Given the description of an element on the screen output the (x, y) to click on. 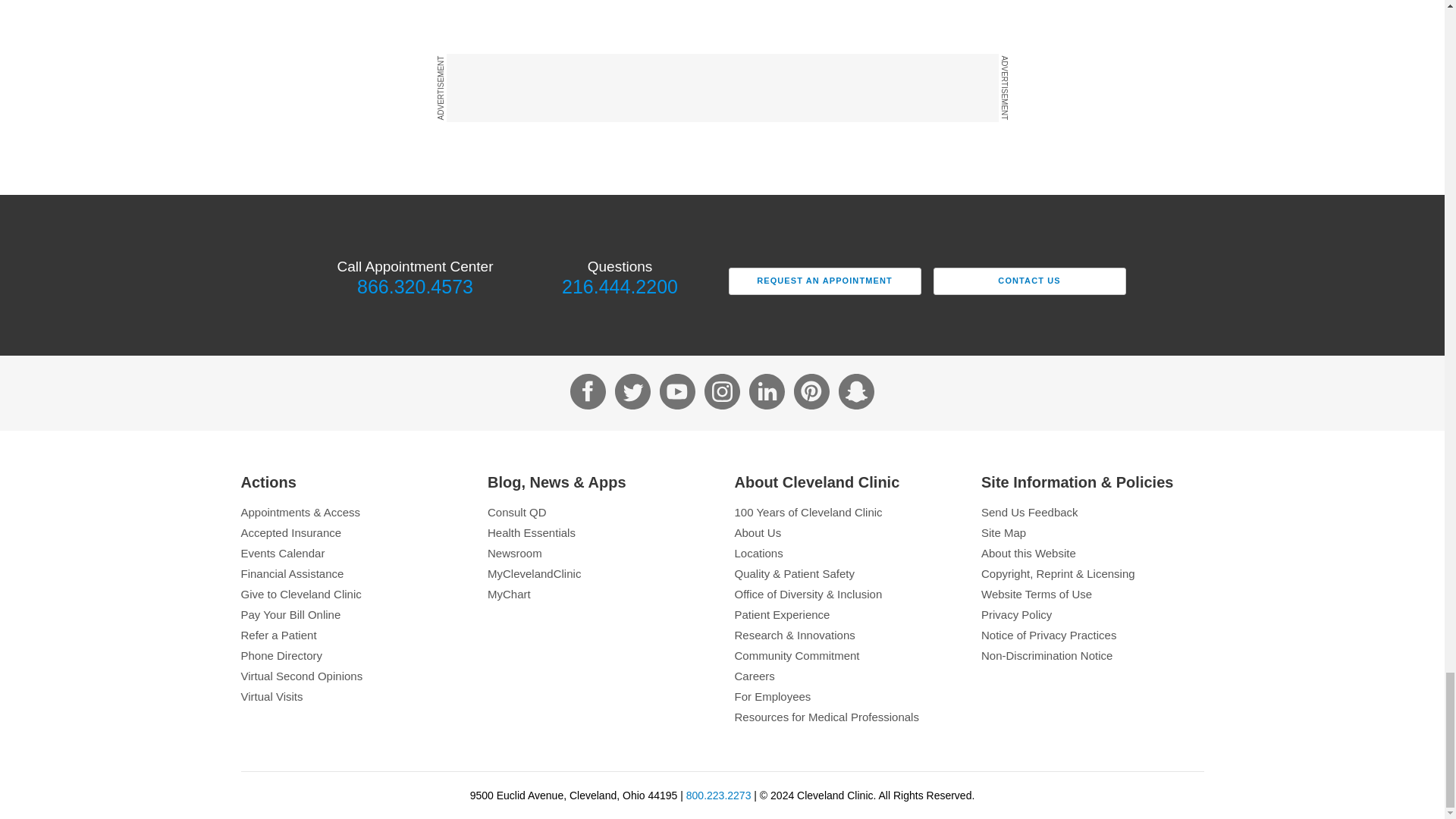
REQUEST AN APPOINTMENT (824, 280)
Pay Your Bill (352, 614)
Health Essentials (598, 532)
Careers (844, 675)
Appointments (352, 511)
Newsroom (598, 552)
Send Us Feedback (1092, 511)
866.320.4573 (414, 286)
Phone Directory (352, 655)
Accepted Insurance (352, 532)
CONTACT US (1029, 280)
216.444.2200 (619, 286)
Consult QD (598, 511)
